Given the description of an element on the screen output the (x, y) to click on. 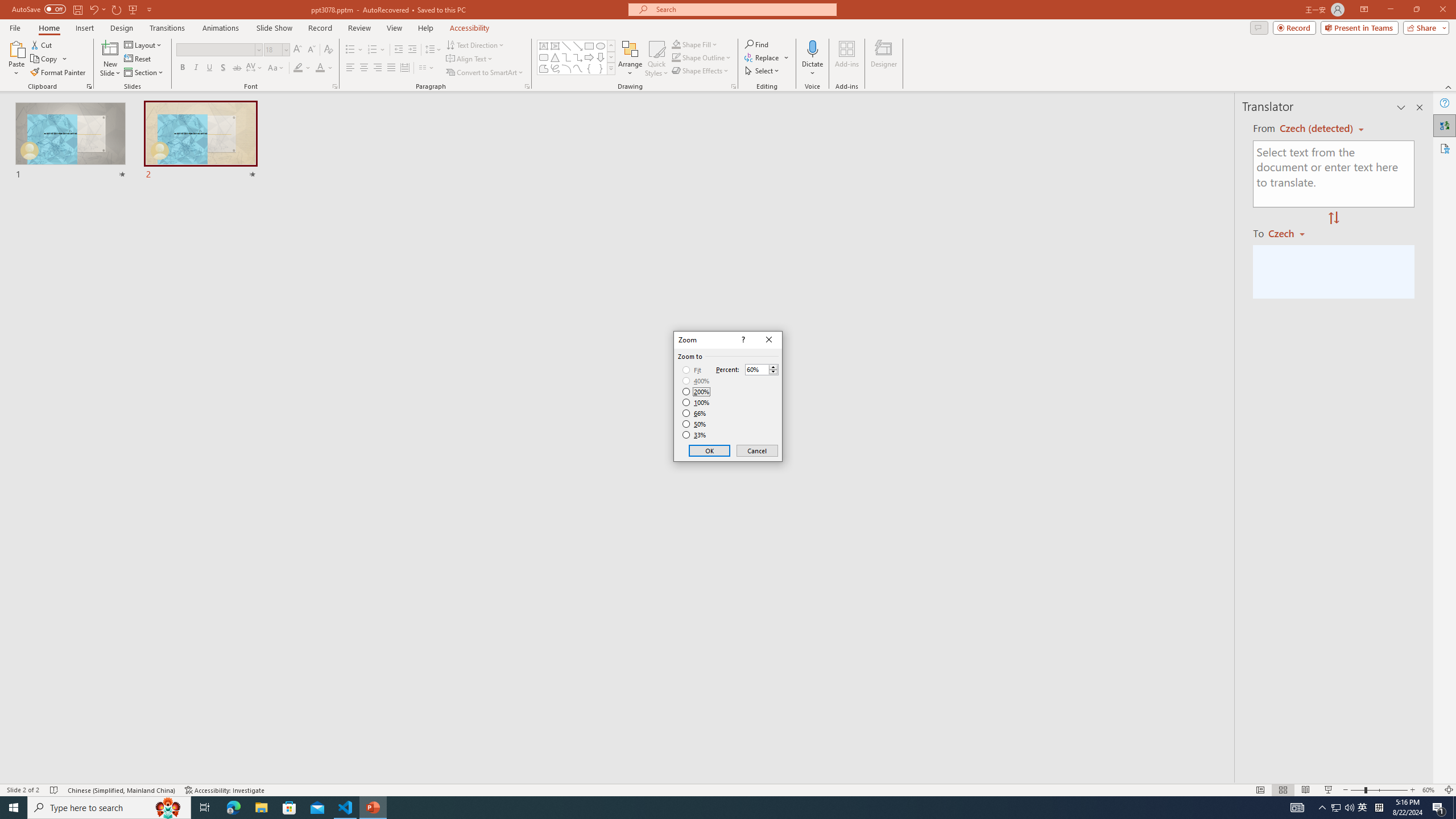
Zoom 60% (1430, 790)
400% (696, 380)
